Given the description of an element on the screen output the (x, y) to click on. 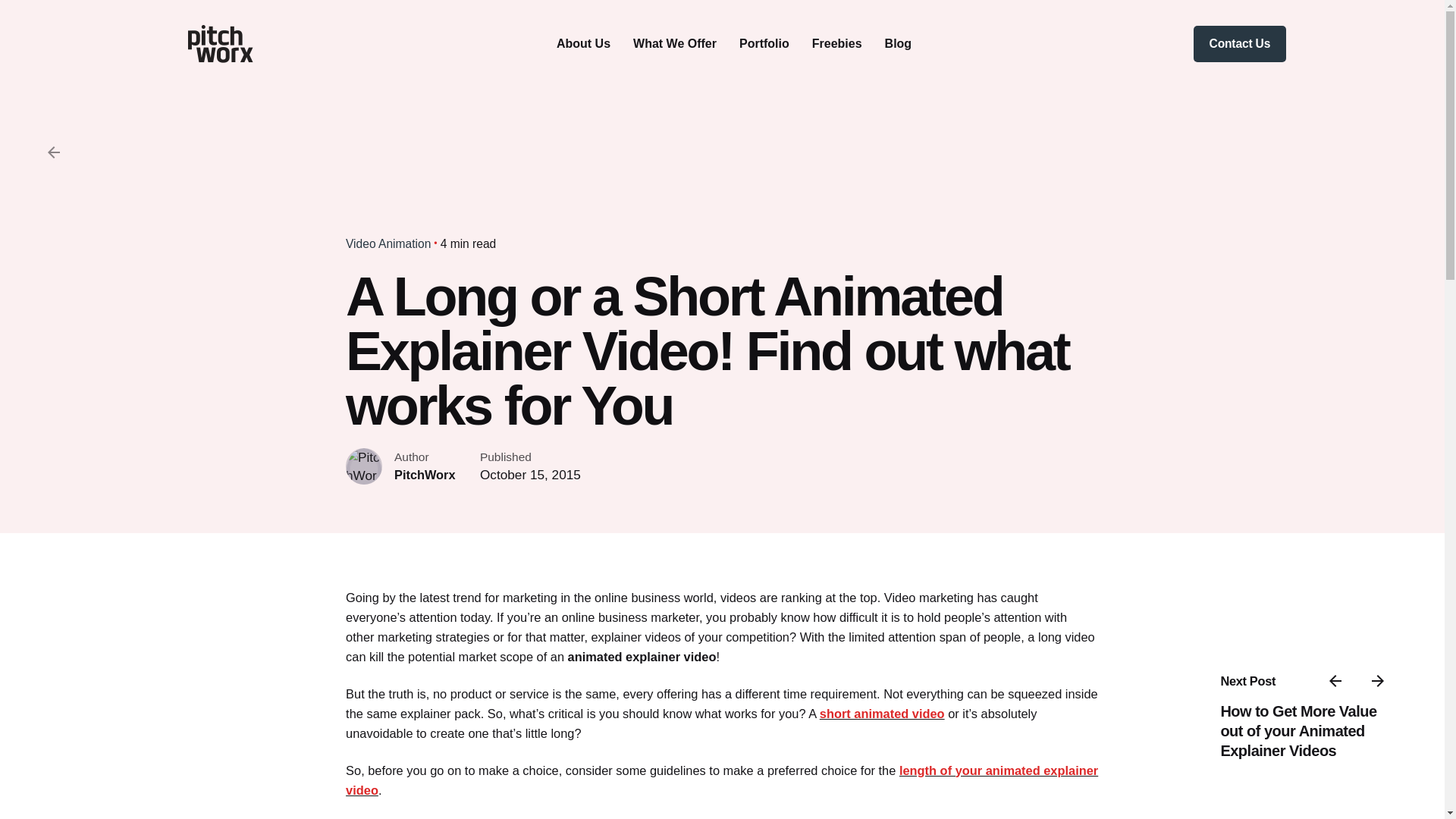
Contact Us (1239, 43)
About Us (582, 43)
Freebies (837, 43)
Portfolio (764, 43)
Blog (898, 43)
What We Offer (674, 43)
Create Animated Explainer Videos for Startups - PitchWorx (881, 713)
Choive for the length of your animated explainer video (721, 779)
